Given the description of an element on the screen output the (x, y) to click on. 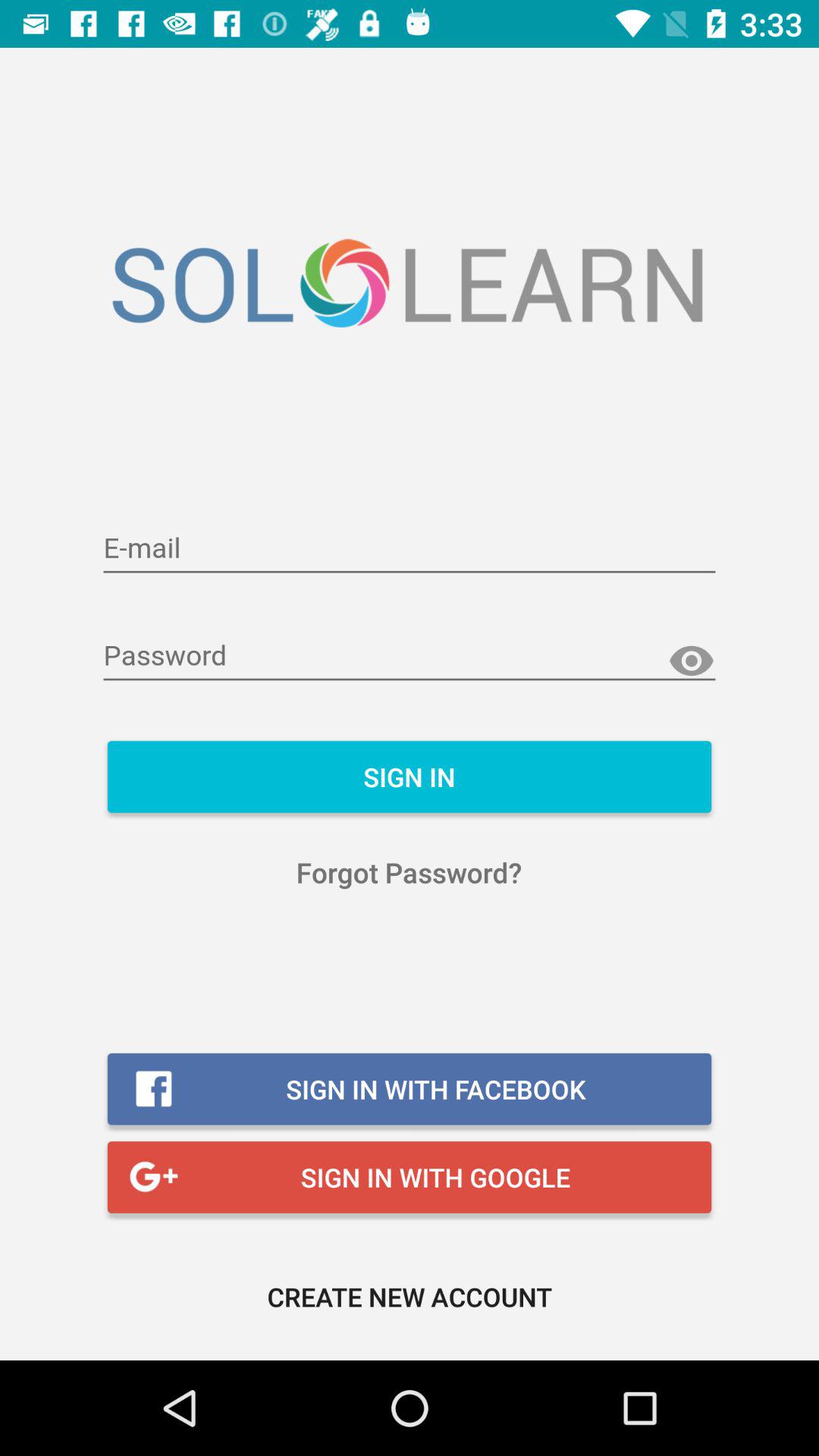
toggle show/hide password (691, 661)
